Given the description of an element on the screen output the (x, y) to click on. 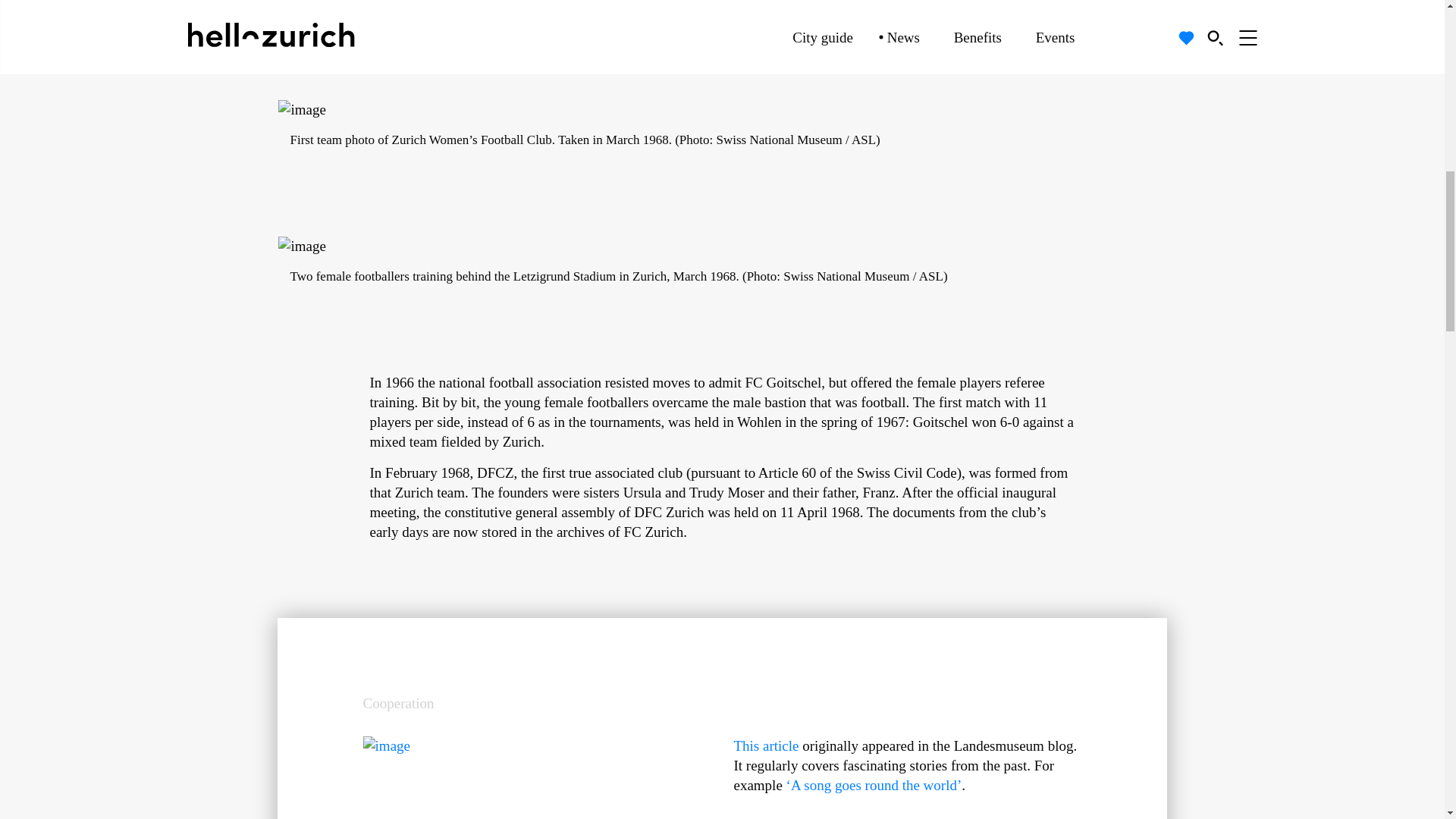
This article (765, 745)
